Given the description of an element on the screen output the (x, y) to click on. 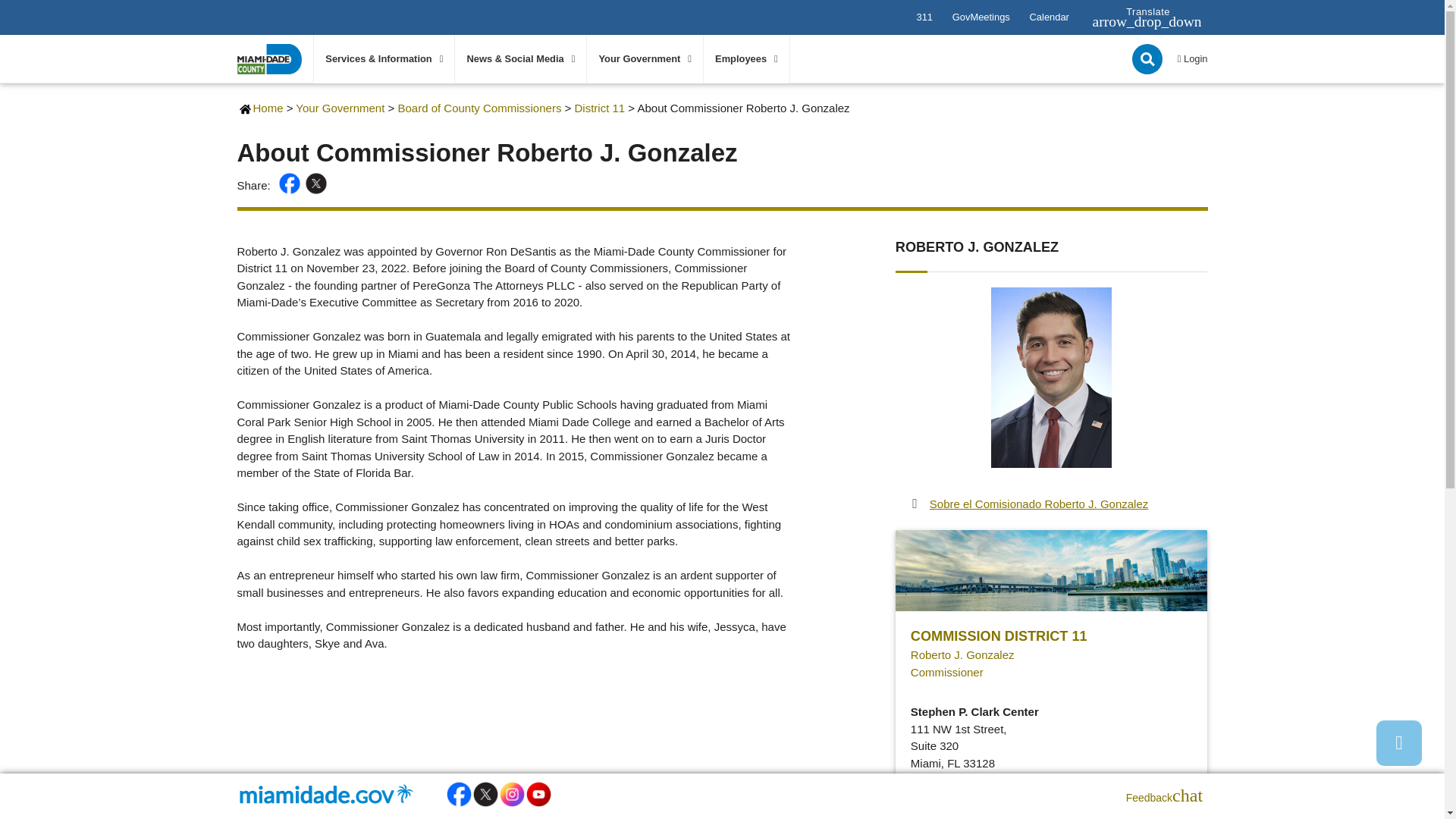
Calendar (1048, 17)
Share on Facebook (291, 185)
311 (924, 17)
Twitter (317, 185)
GovMeetings (981, 17)
